Given the description of an element on the screen output the (x, y) to click on. 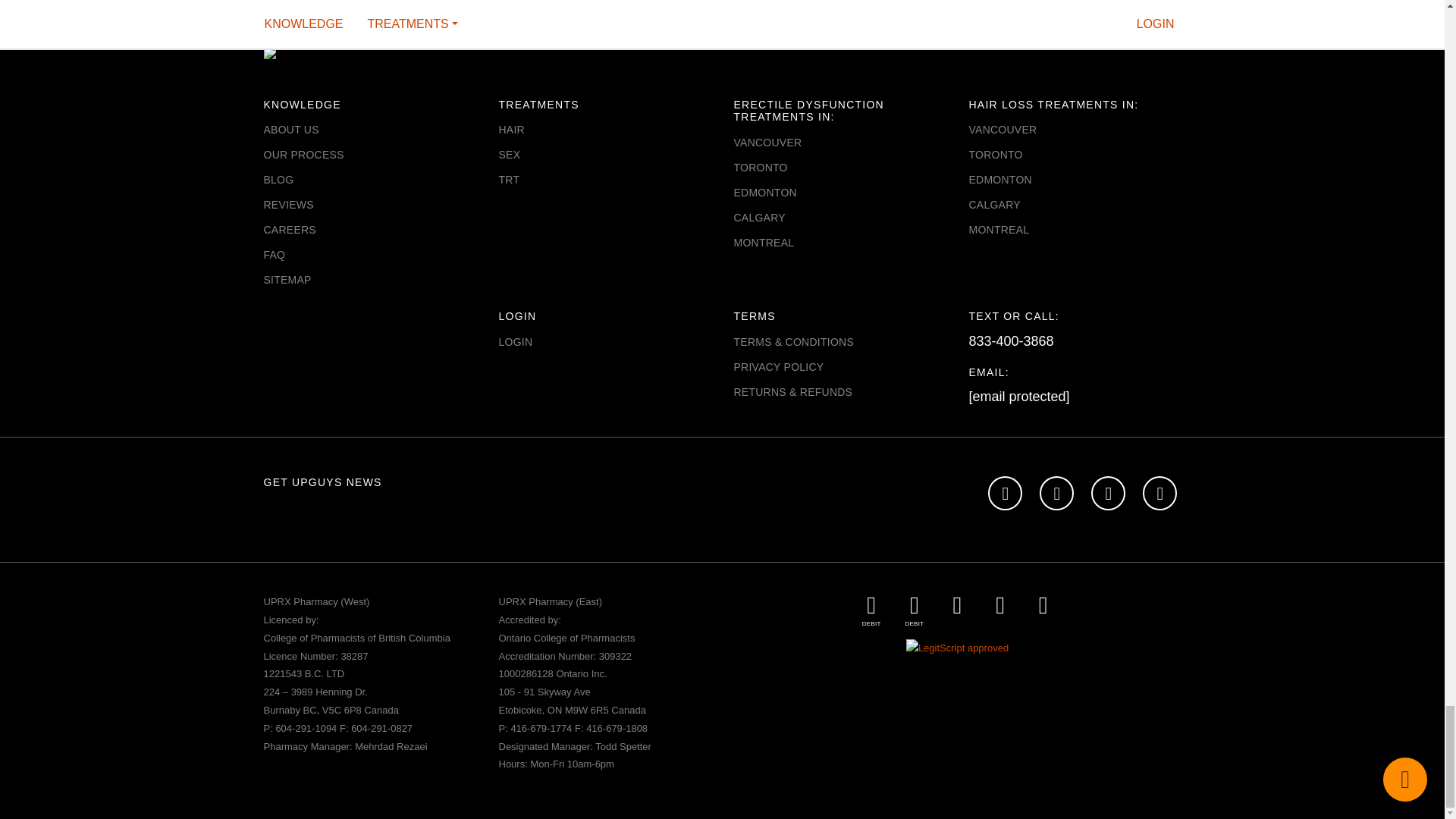
Hair Treatments (511, 129)
frequently asked questions (274, 254)
About Us (290, 129)
Blog (278, 179)
Careers (289, 229)
Our Process (303, 154)
Sitemap (287, 279)
Reviews (288, 204)
